Given the description of an element on the screen output the (x, y) to click on. 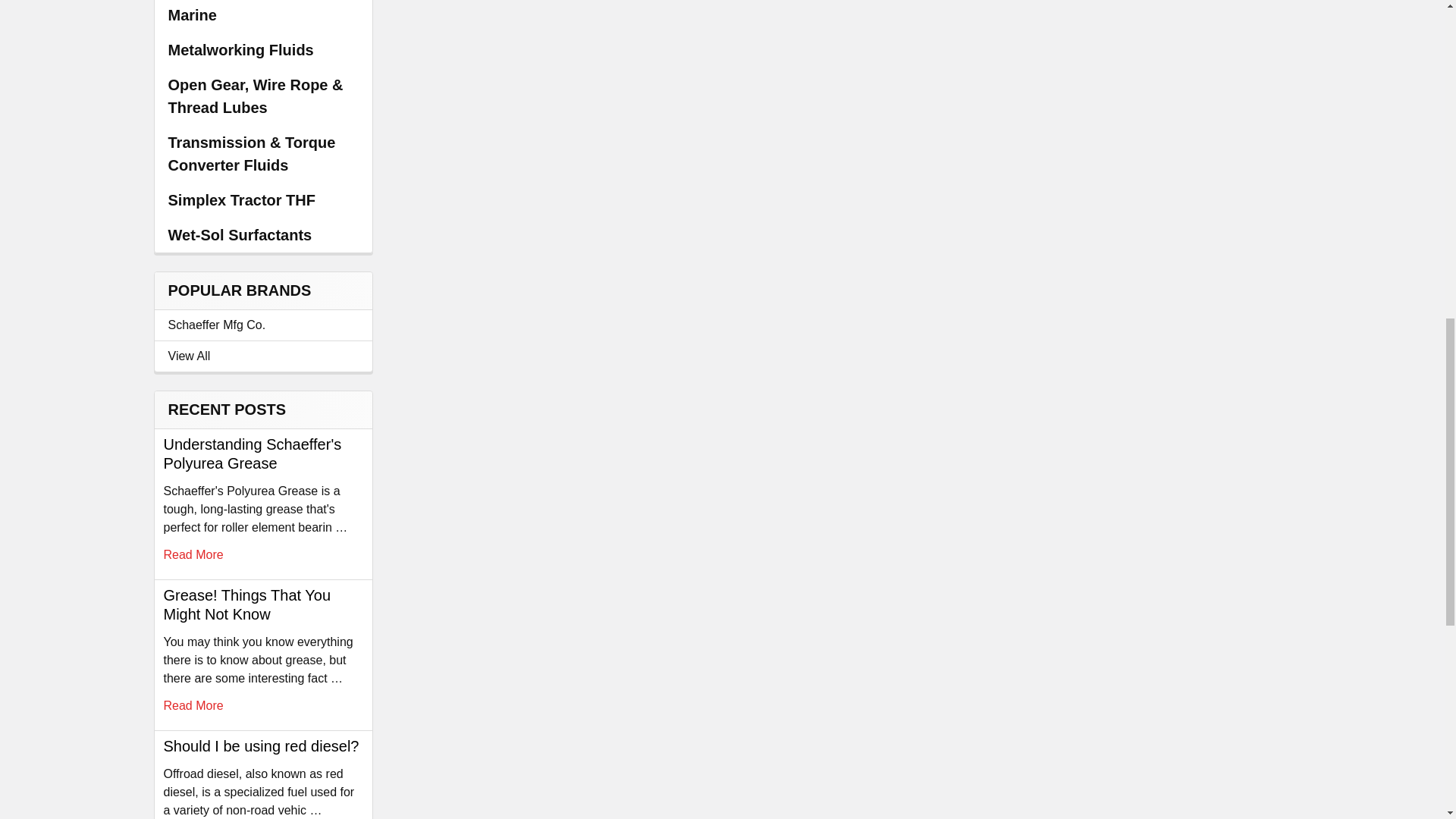
Schaeffer Mfg Co. (263, 325)
